Given the description of an element on the screen output the (x, y) to click on. 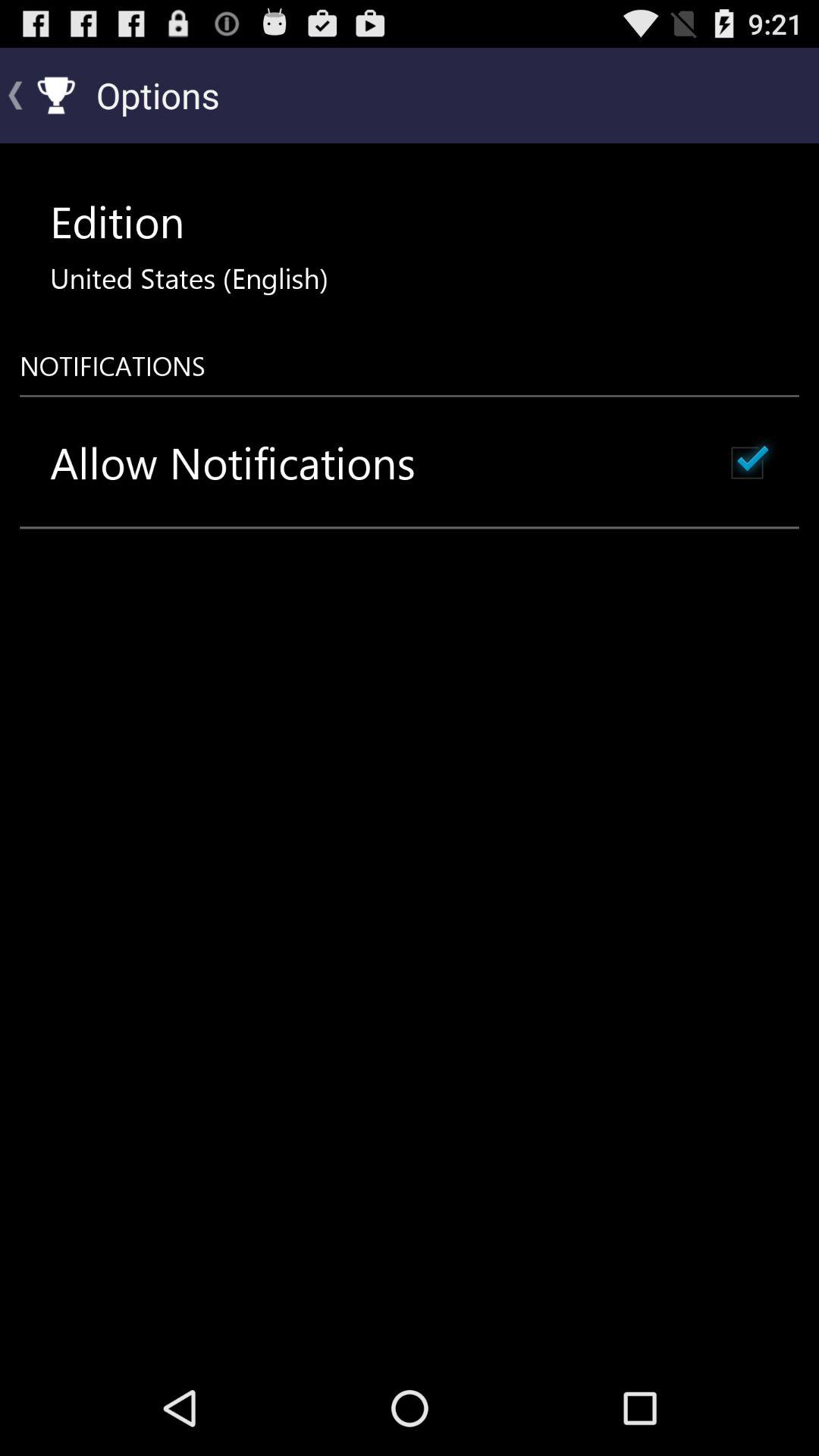
scroll to the edition item (117, 221)
